Given the description of an element on the screen output the (x, y) to click on. 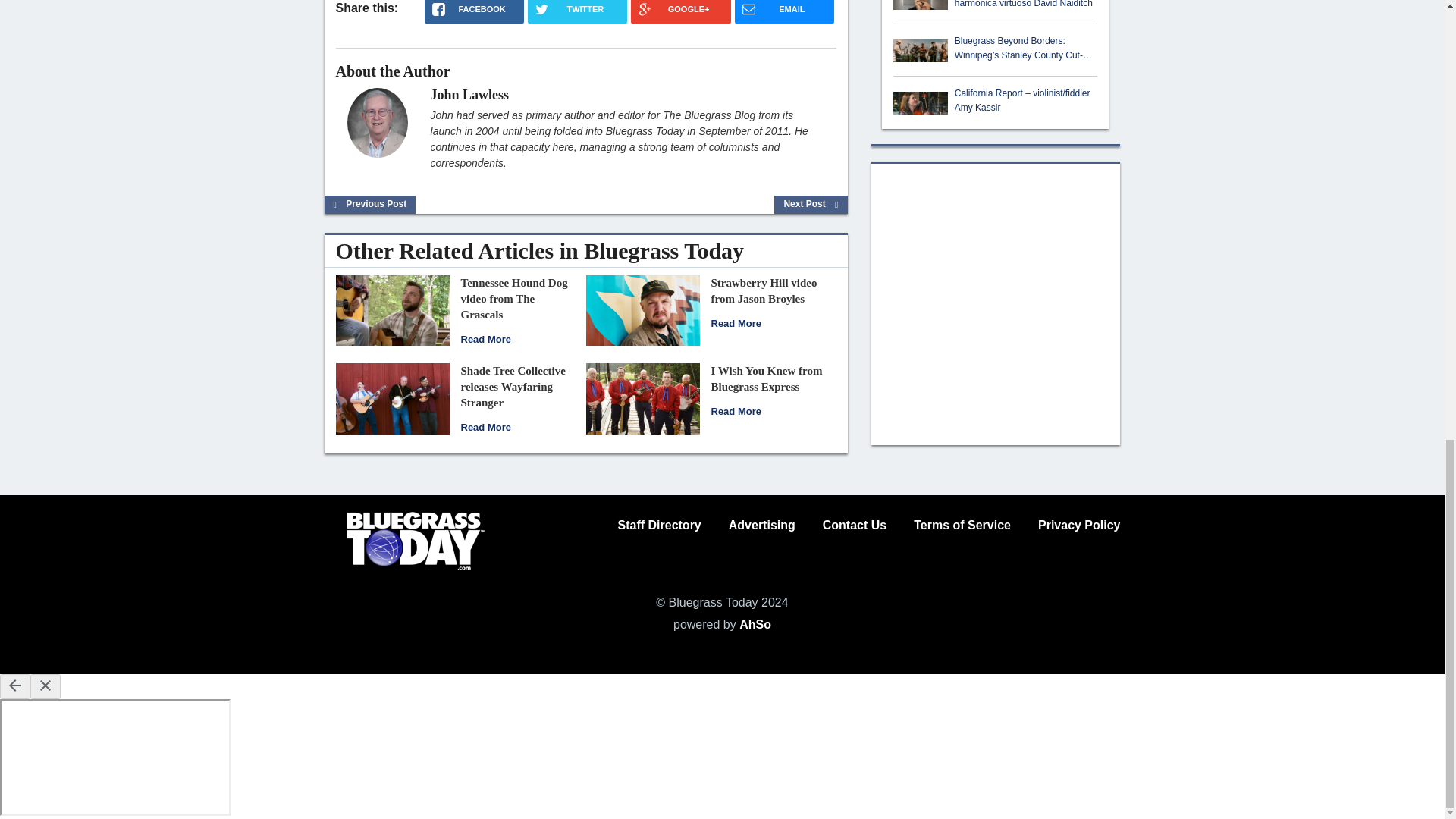
I Wish You Knew from Bluegrass Express (766, 378)
Tennessee Hound Dog video from The Grascals (486, 338)
EMAIL (784, 11)
TWITTER (577, 11)
Shade Tree Collective releases Wayfaring Stranger (391, 397)
I Wish You Knew from Bluegrass Express (641, 397)
Previous Post (370, 203)
Strawberry Hill video from Jason Broyles (763, 290)
Next Post (810, 203)
Tennessee Hound Dog video from The Grascals (514, 298)
Shade Tree Collective releases Wayfaring Stranger (513, 386)
Tennessee Hound Dog video from The Grascals (391, 309)
Shade Tree Collective releases Wayfaring Stranger (486, 427)
Strawberry Hill video from Jason Broyles (641, 309)
Strawberry Hill video from Jason Broyles (736, 323)
